Given the description of an element on the screen output the (x, y) to click on. 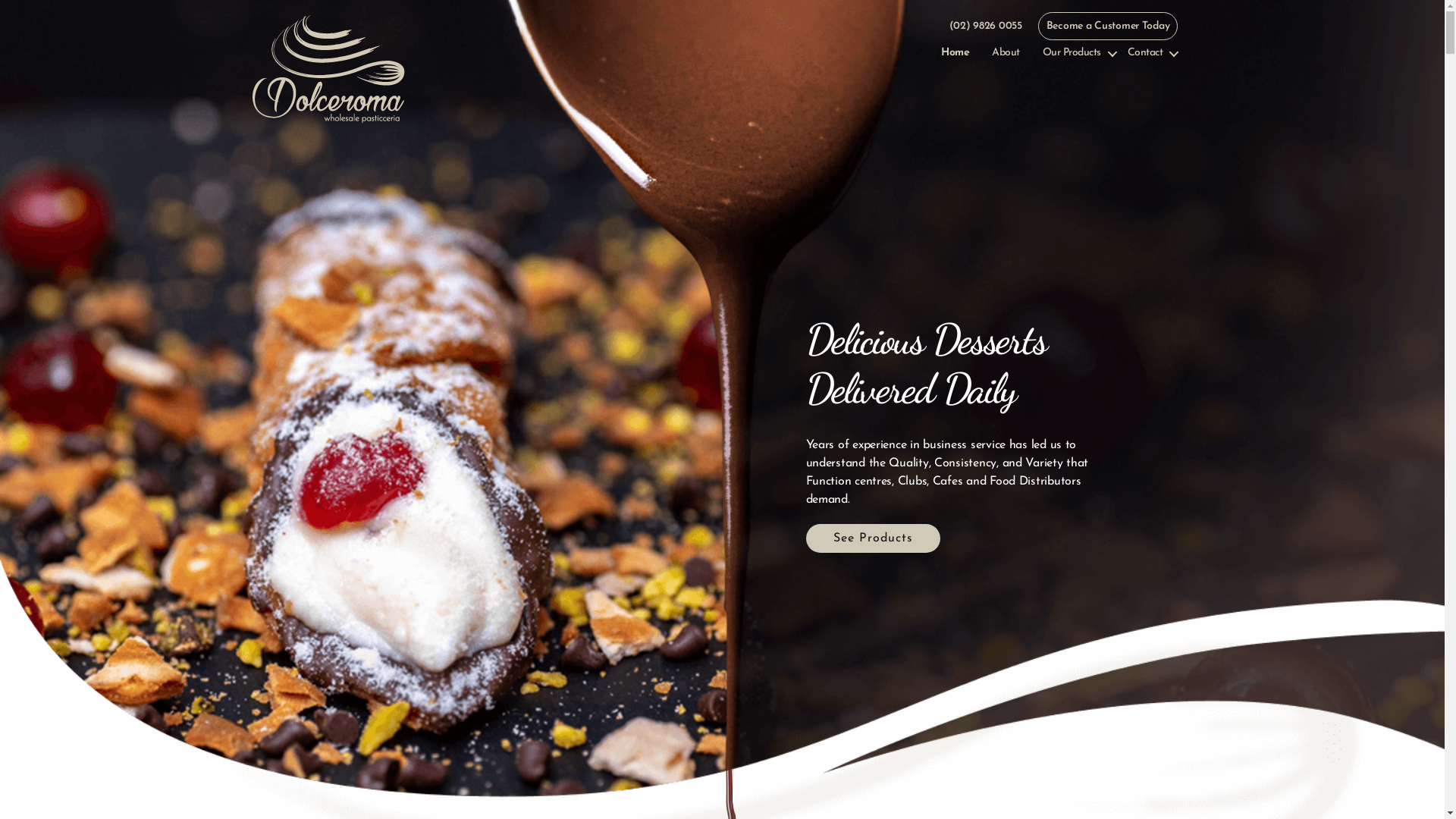
Contact Element type: text (1152, 53)
Our Products Element type: text (1079, 53)
(02) 9826 0055 Element type: text (985, 25)
Become a Customer Today Element type: text (1108, 26)
See Products Element type: text (872, 538)
Home Element type: text (955, 53)
About Element type: text (1005, 53)
